Given the description of an element on the screen output the (x, y) to click on. 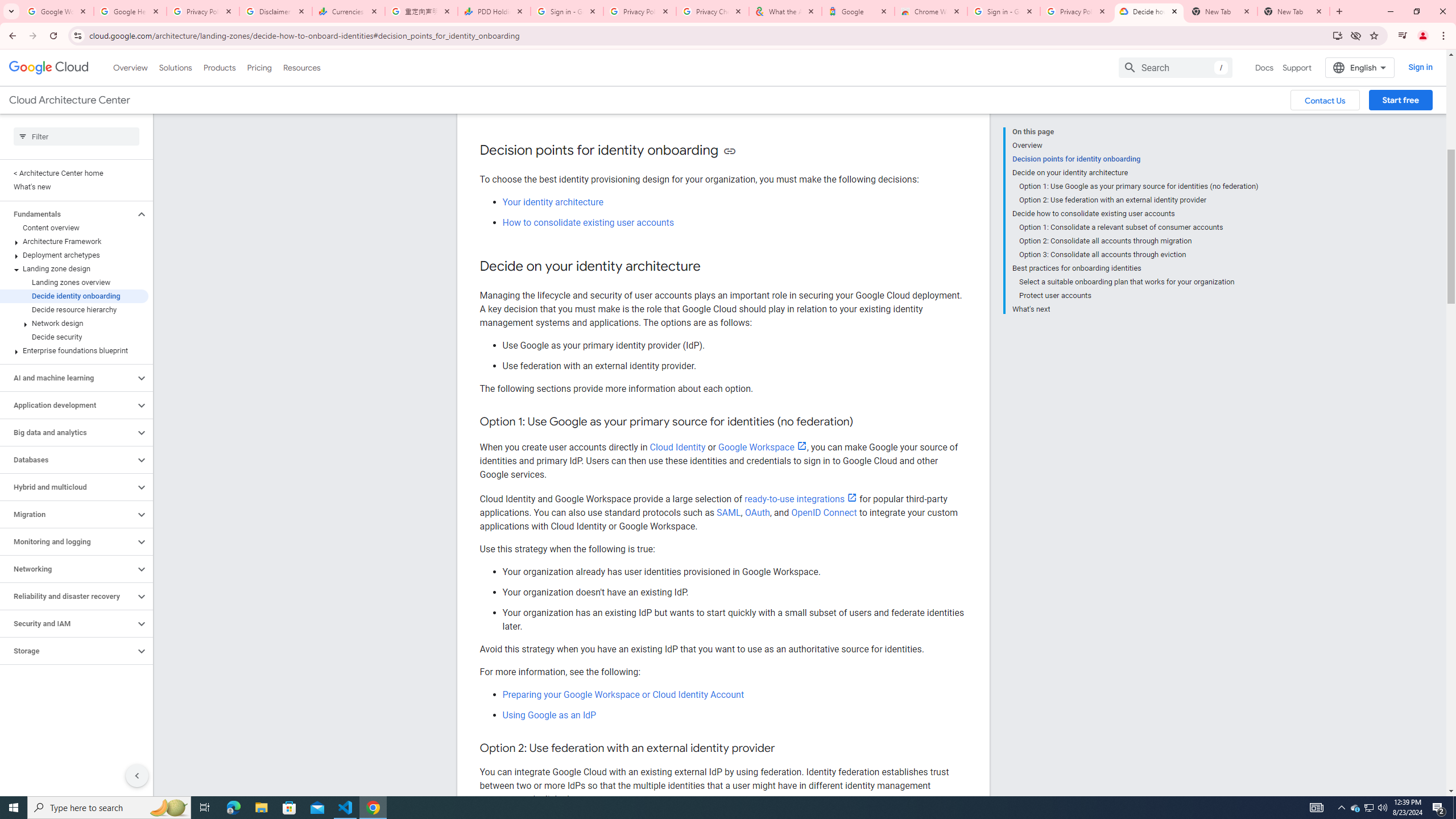
Preparing your Google Workspace or Cloud Identity Account (623, 694)
PDD Holdings Inc - ADR (PDD) Price & News - Google Finance (493, 11)
Decide security (74, 336)
overview of identity and access management (715, 99)
Application development (67, 404)
Support (1296, 67)
AI and machine learning (67, 377)
Storage (67, 650)
What's next (1134, 307)
Your identity architecture (552, 201)
